Given the description of an element on the screen output the (x, y) to click on. 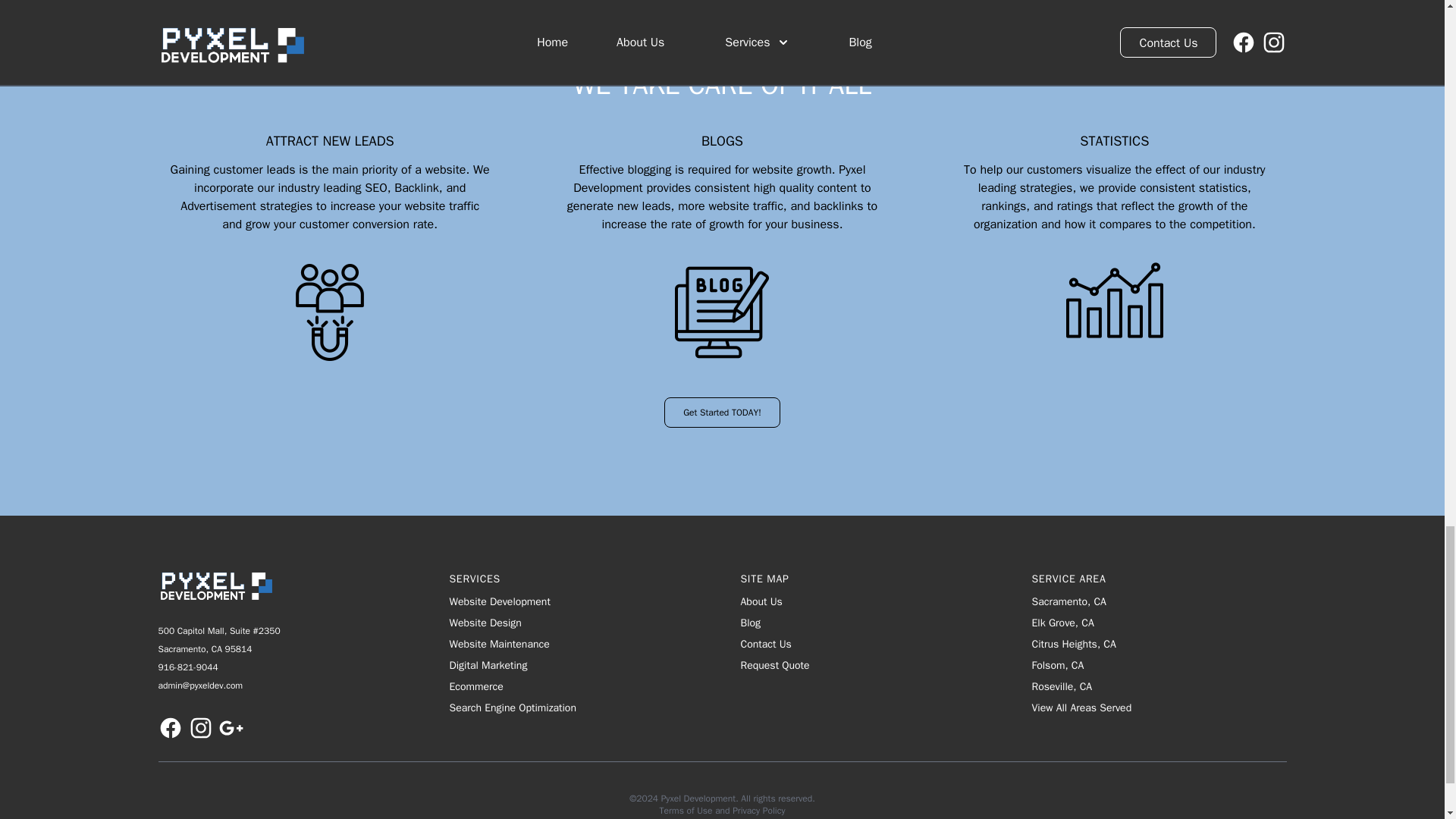
Get Started TODAY! (721, 412)
Get Started TODAY! (721, 389)
Digital Marketing (575, 665)
Website Maintenance (575, 644)
Ecommerce (575, 686)
Instagram (199, 727)
Dallas digital marketing blog (721, 312)
About Us (760, 601)
Website Design (575, 622)
Dallas digital marketing statistics (1114, 299)
